Given the description of an element on the screen output the (x, y) to click on. 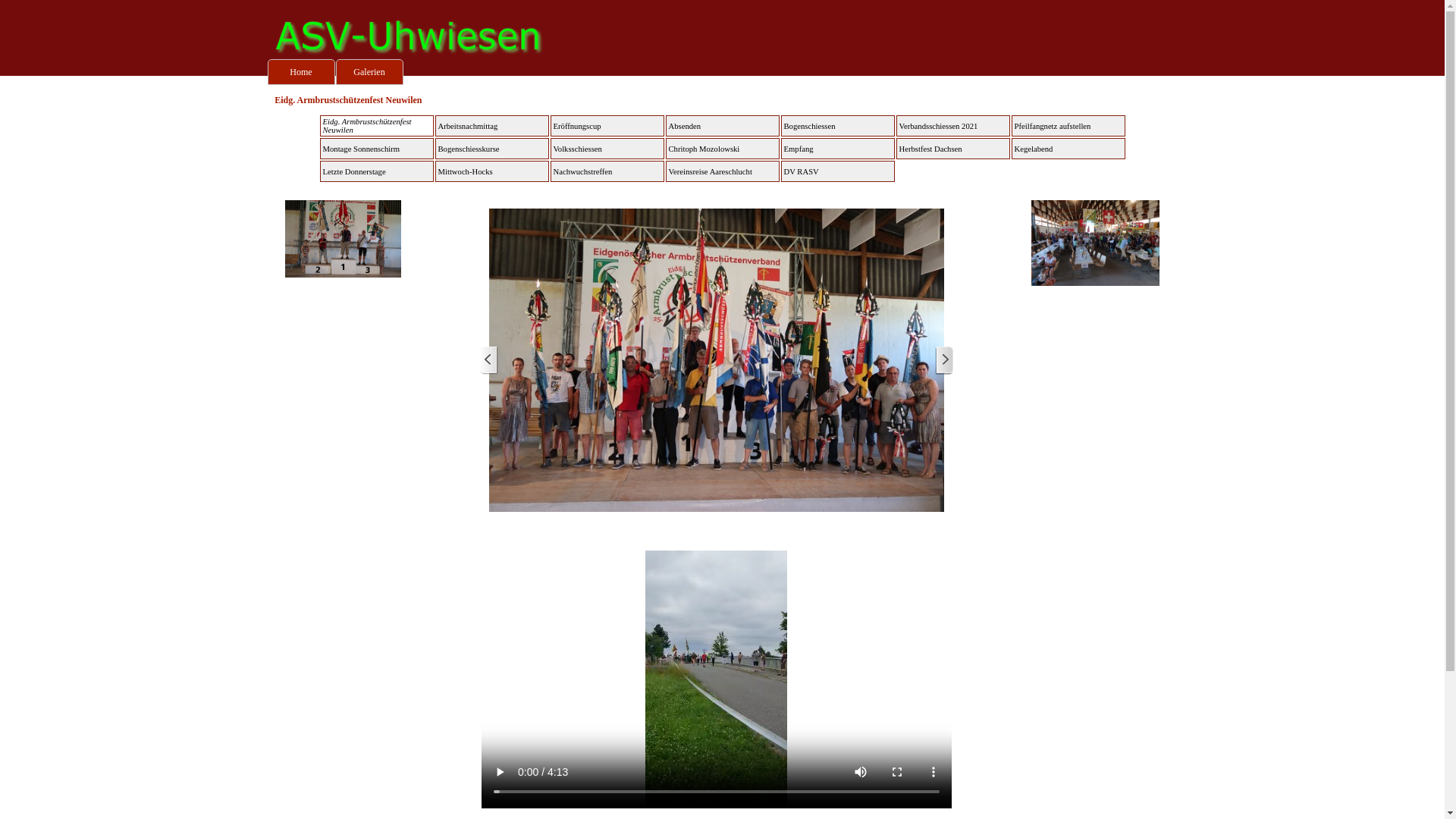
Home Element type: text (300, 71)
Herbstfest Dachsen Element type: text (953, 148)
DV RASV Element type: text (837, 171)
Mittwoch-Hocks Element type: text (492, 171)
Kegelabend Element type: text (1068, 148)
Chritoph Mozolowski Element type: text (722, 148)
Galerien Element type: text (368, 71)
Pfeilfangnetz aufstellen Element type: text (1068, 125)
Absenden Element type: text (722, 125)
Vereinsreise Aareschlucht Element type: text (722, 171)
Montage Sonnenschirm Element type: text (376, 148)
ASV Uhwiesen Element type: hover (410, 37)
Bogenschiesskurse Element type: text (492, 148)
Letzte Donnerstage Element type: text (376, 171)
Nachwuchstreffen Element type: text (607, 171)
Volksschiessen Element type: text (607, 148)
Verbandsschiessen 2021 Element type: text (953, 125)
Bogenschiessen Element type: text (837, 125)
Empfang Element type: text (837, 148)
Arbeitsnachmittag Element type: text (492, 125)
